Given the description of an element on the screen output the (x, y) to click on. 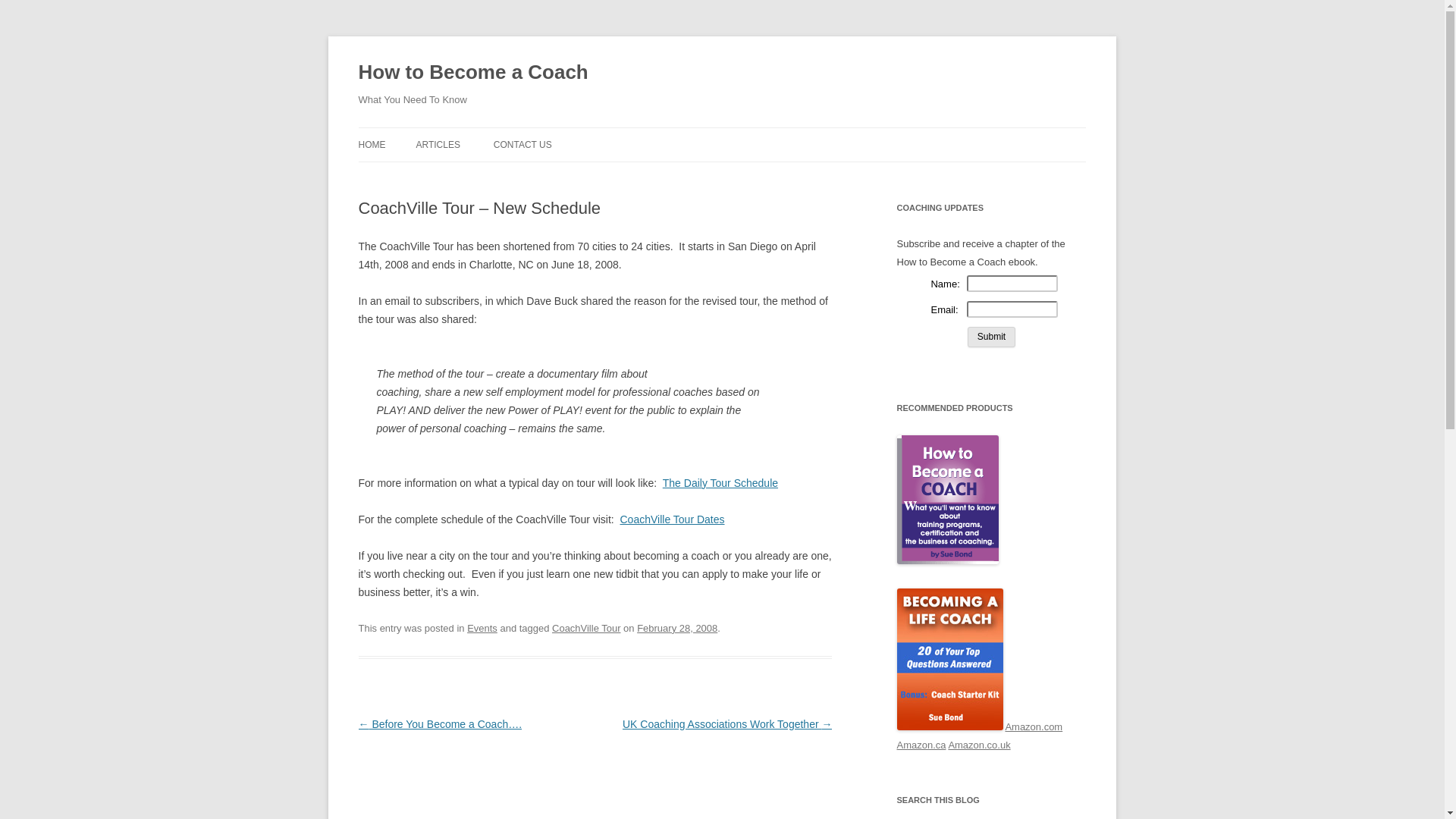
Amazon.com (1033, 726)
CoachVille Tour (585, 627)
Amazon.co.uk (978, 745)
Amazon.ca (920, 745)
The Daily Tour Schedule (719, 482)
11:21 am (677, 627)
ARTICLES (437, 144)
How to Become a Coach (473, 72)
Submit (991, 336)
Events (482, 627)
CoachVille Tour Dates (672, 519)
February 28, 2008 (677, 627)
Submit (991, 336)
CONTACT US (522, 144)
